Given the description of an element on the screen output the (x, y) to click on. 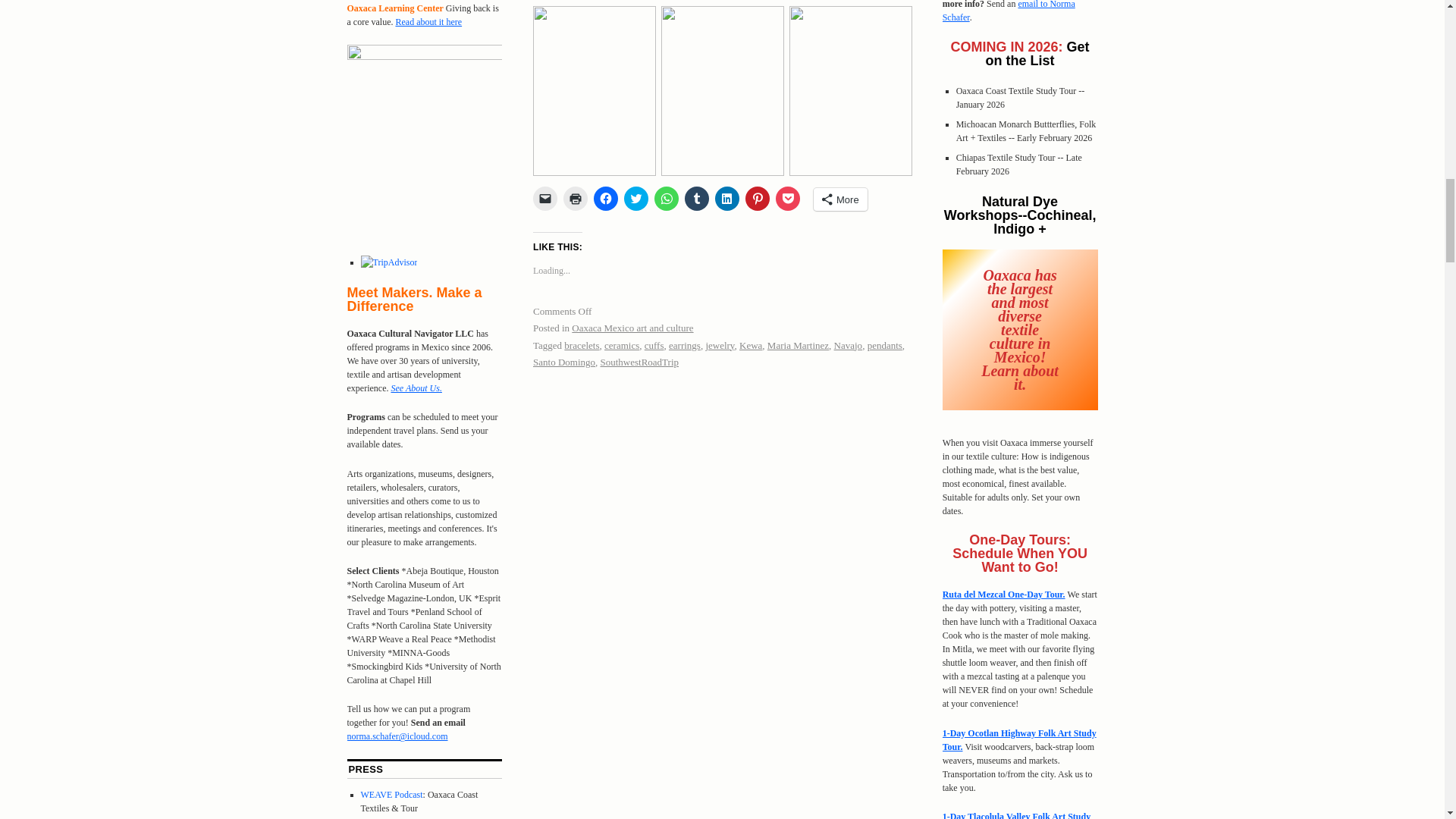
Click to share on Facebook (605, 198)
Click to share on LinkedIn (726, 198)
Click to print (575, 198)
earrings (684, 345)
More (840, 199)
Click to email a link to a friend (544, 198)
Maria Martinez (797, 345)
Kewa (750, 345)
bracelets (581, 345)
Oaxaca Mexico art and culture (632, 327)
Click to share on Tumblr (696, 198)
Click to share on Twitter (635, 198)
Click to share on Pocket (787, 198)
ceramics (621, 345)
Click to share on Pinterest (757, 198)
